Given the description of an element on the screen output the (x, y) to click on. 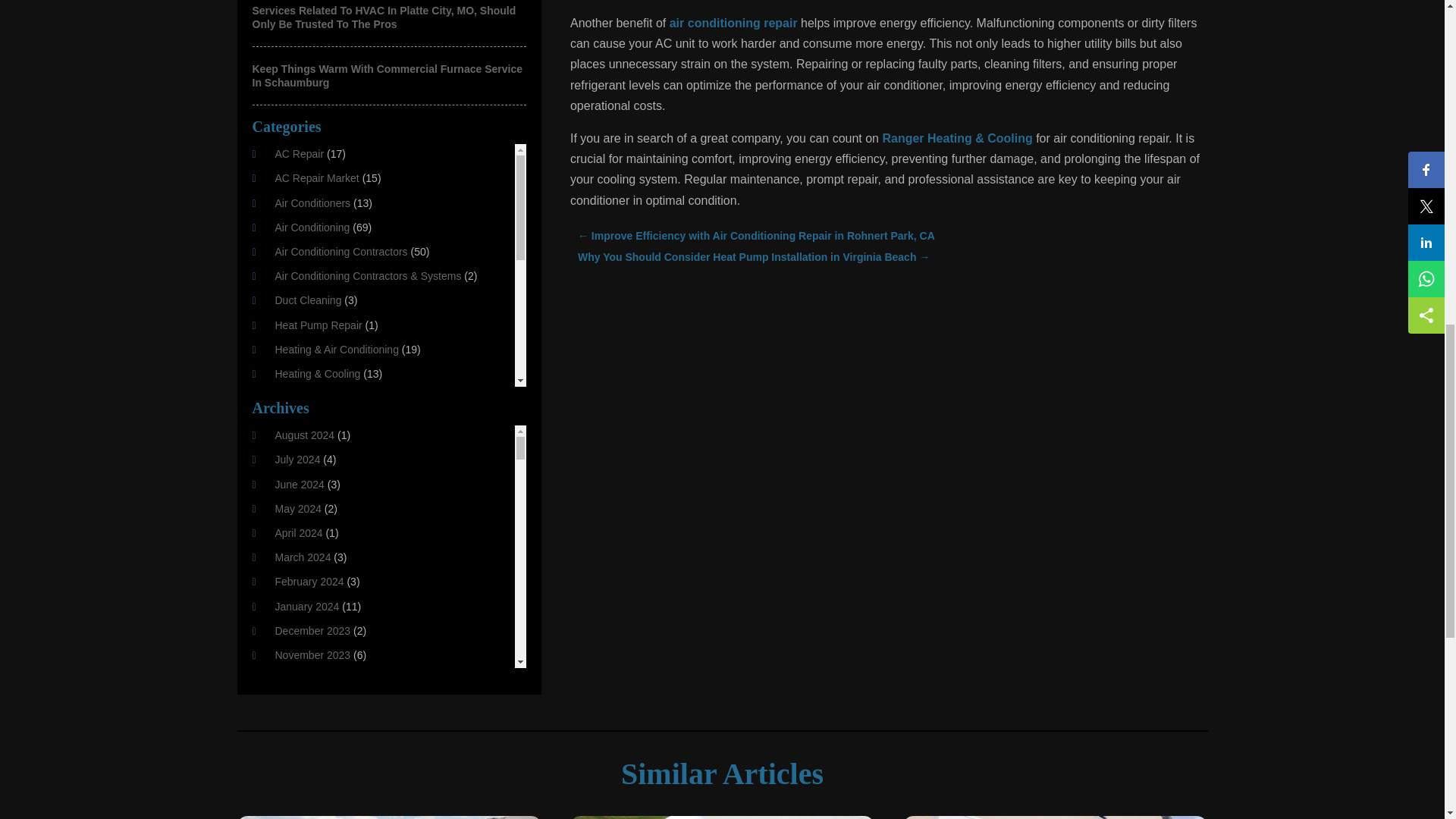
AC Repair Market (316, 177)
AC Repair (299, 153)
Heat Pump Repair (318, 324)
Air Conditioning (312, 227)
HVAC Contractor (315, 544)
Air Conditioners (312, 203)
Air Conditioning Contractors (341, 251)
Heating Contractor (319, 471)
Duct Cleaning (307, 300)
